Given the description of an element on the screen output the (x, y) to click on. 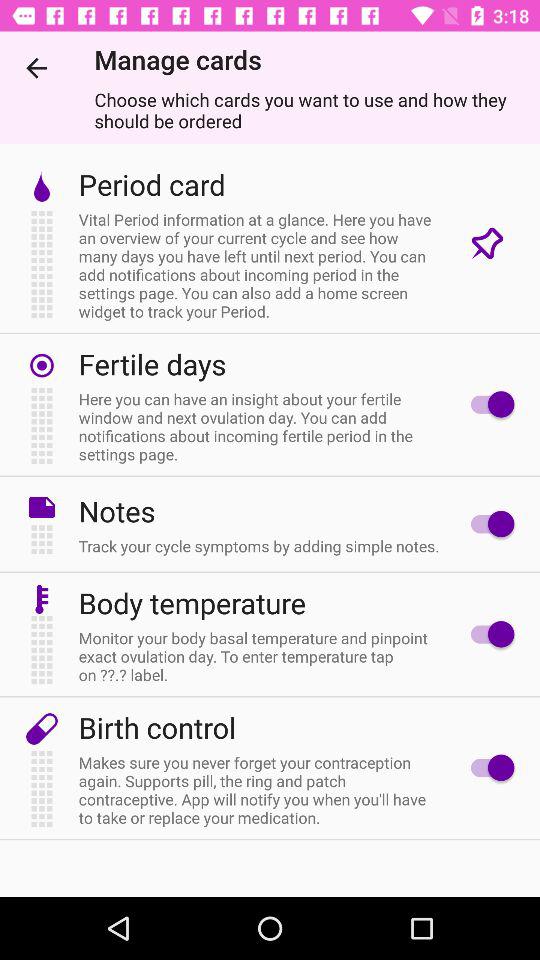
switch on notes (487, 523)
